Given the description of an element on the screen output the (x, y) to click on. 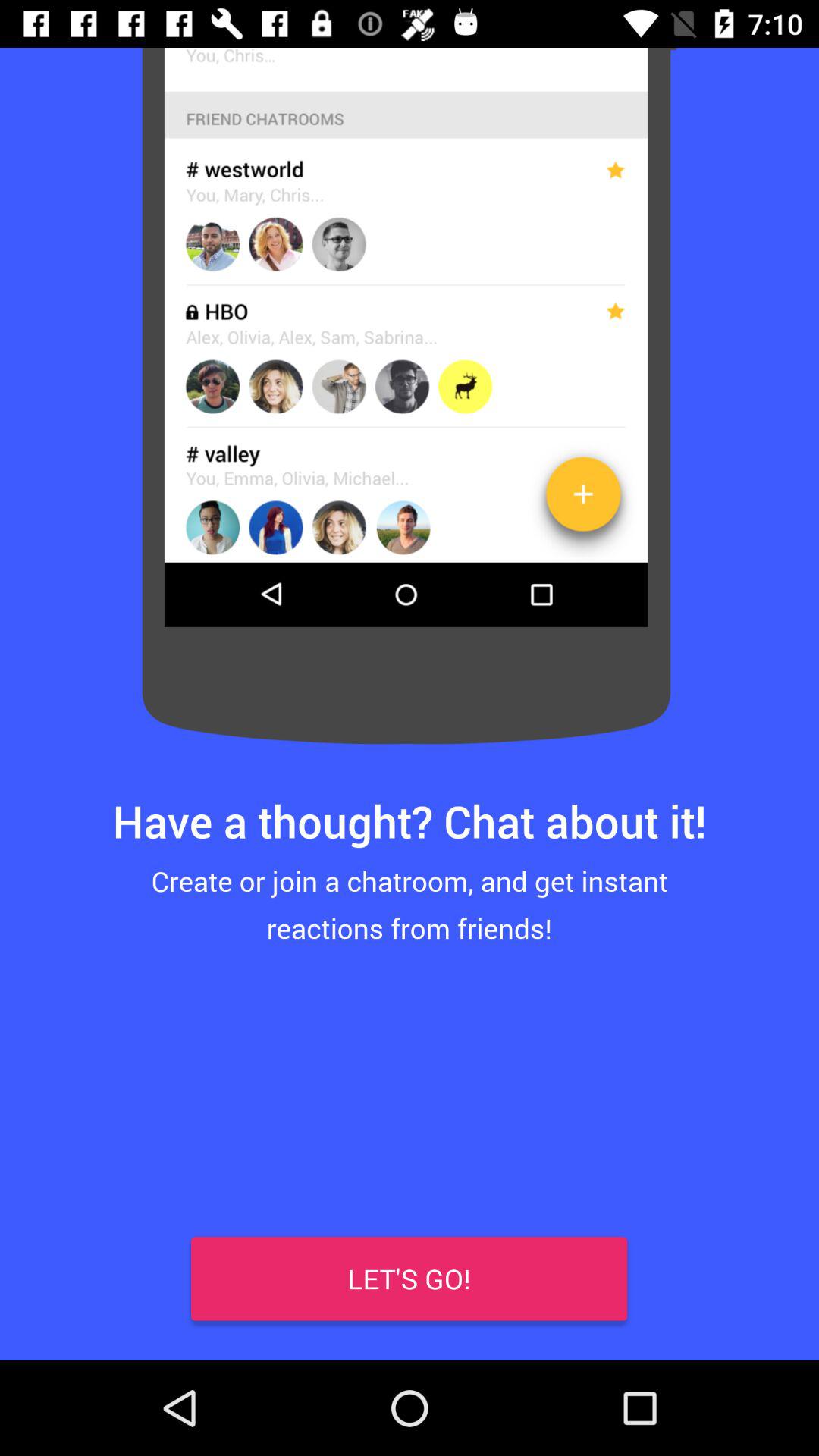
turn on the item next to the let's go! (47, 1312)
